Given the description of an element on the screen output the (x, y) to click on. 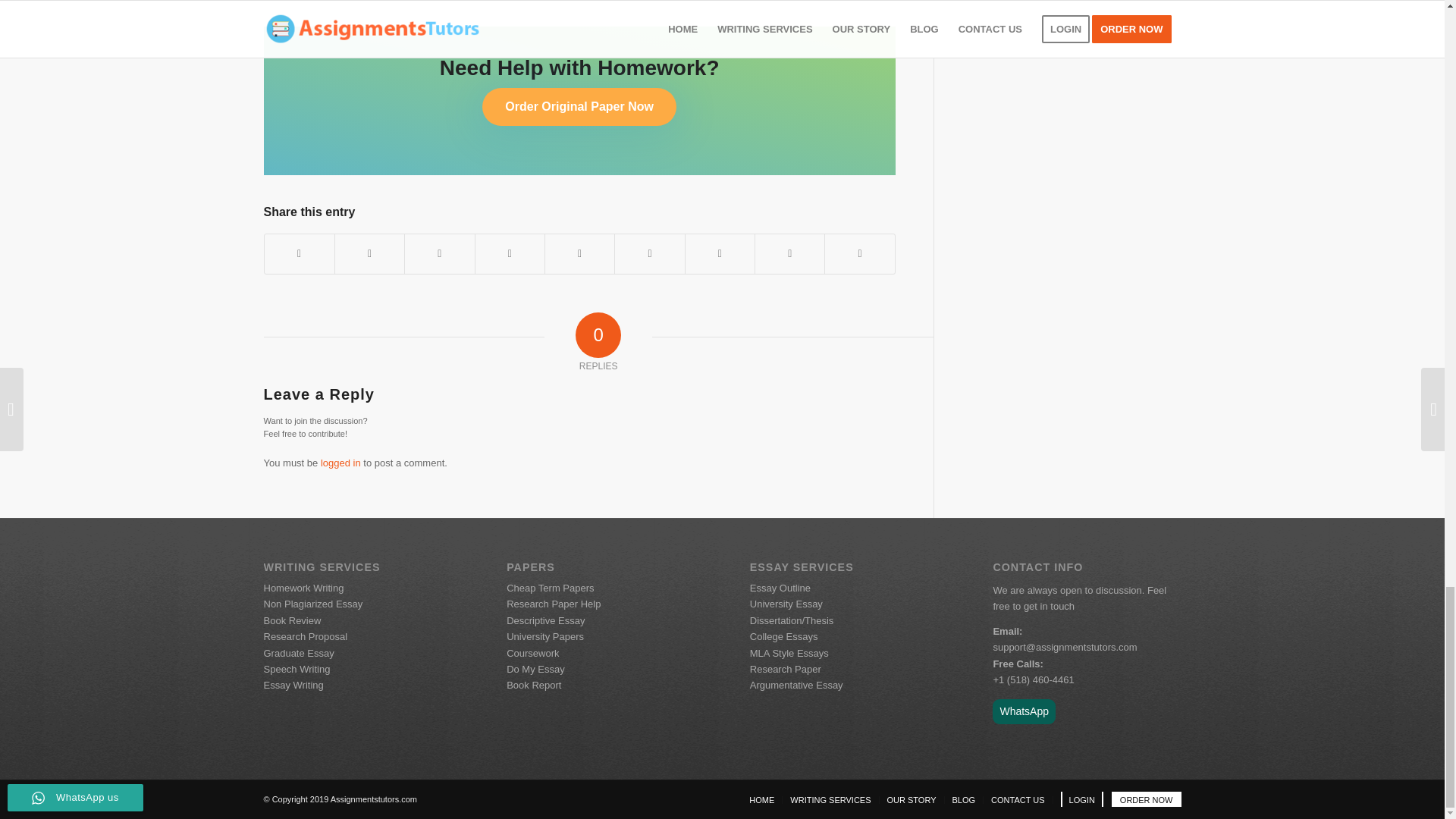
WRITING SERVICES (830, 799)
WhatsApp (1023, 711)
BLOG (963, 799)
HOME (761, 799)
Order Original Paper Now (579, 106)
logged in (340, 462)
OUR STORY (911, 799)
